Given the description of an element on the screen output the (x, y) to click on. 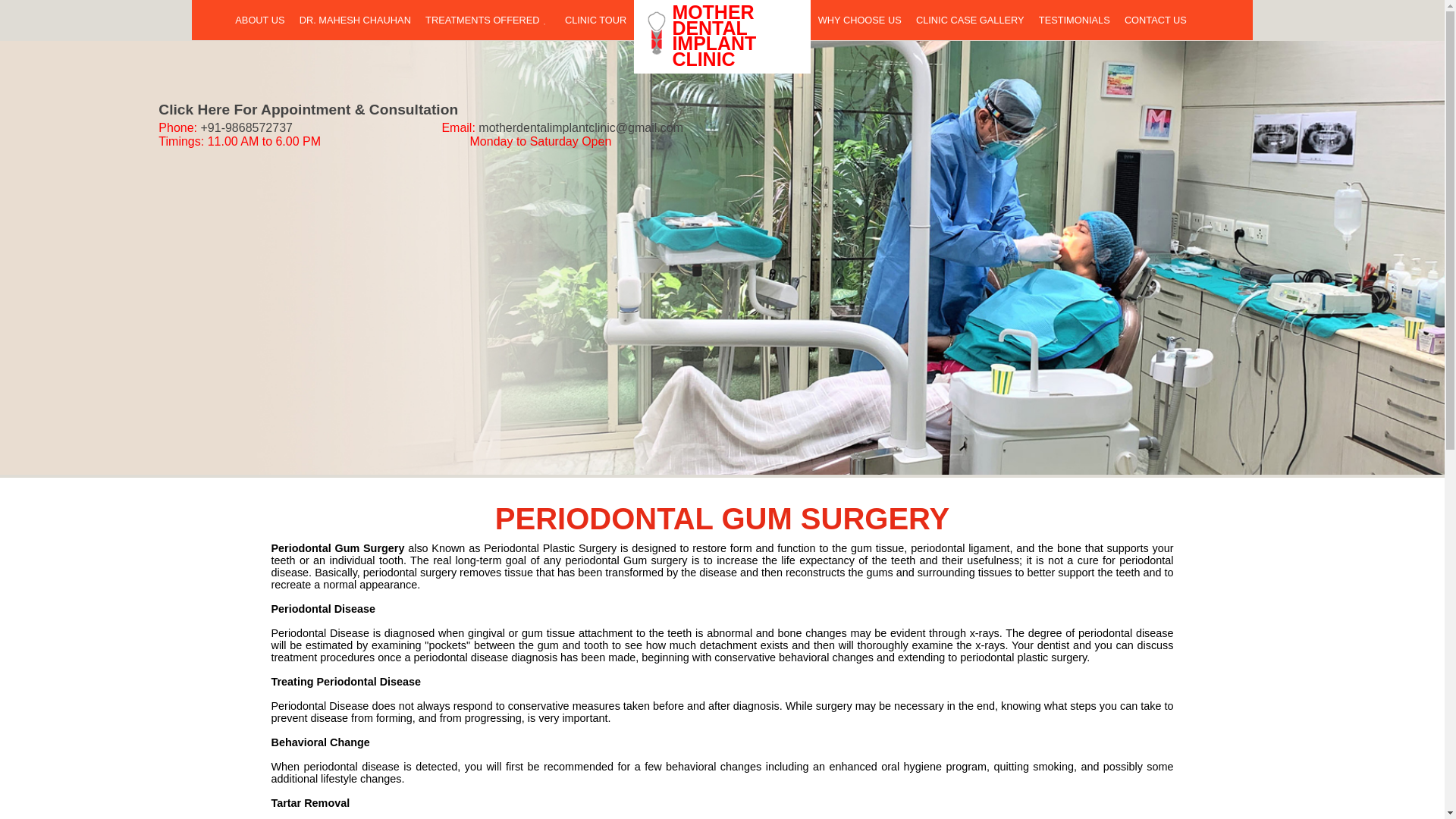
ABOUT US (260, 20)
WHY CHOOSE US (859, 20)
DR. MAHESH CHAUHAN (354, 20)
CLINIC CASE GALLERY (969, 20)
MOTHER DENTAL IMPLANT CLINIC (721, 36)
CLINIC TOUR (595, 20)
TESTIMONIALS (1073, 20)
CONTACT US (1154, 20)
TREATMENTS OFFERED (487, 20)
